Given the description of an element on the screen output the (x, y) to click on. 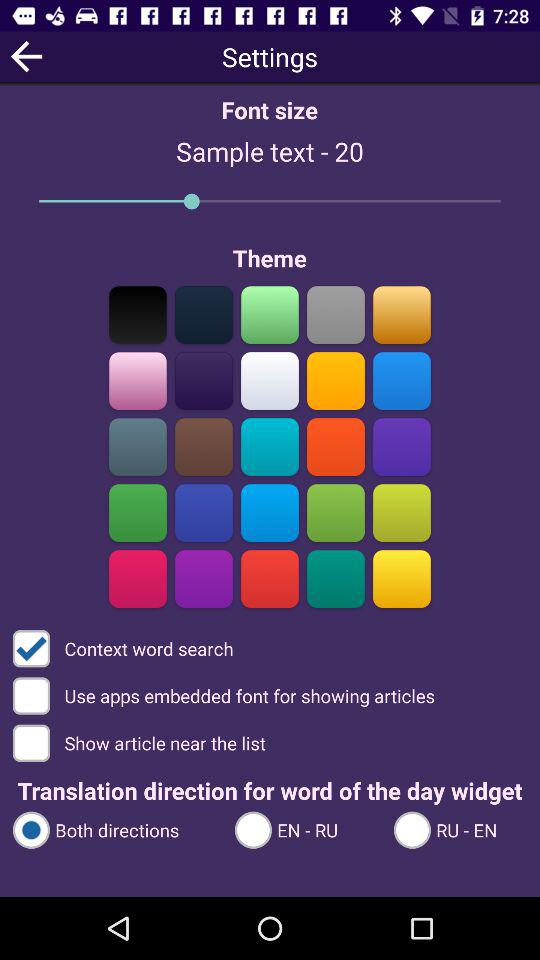
change app theme (269, 314)
